Given the description of an element on the screen output the (x, y) to click on. 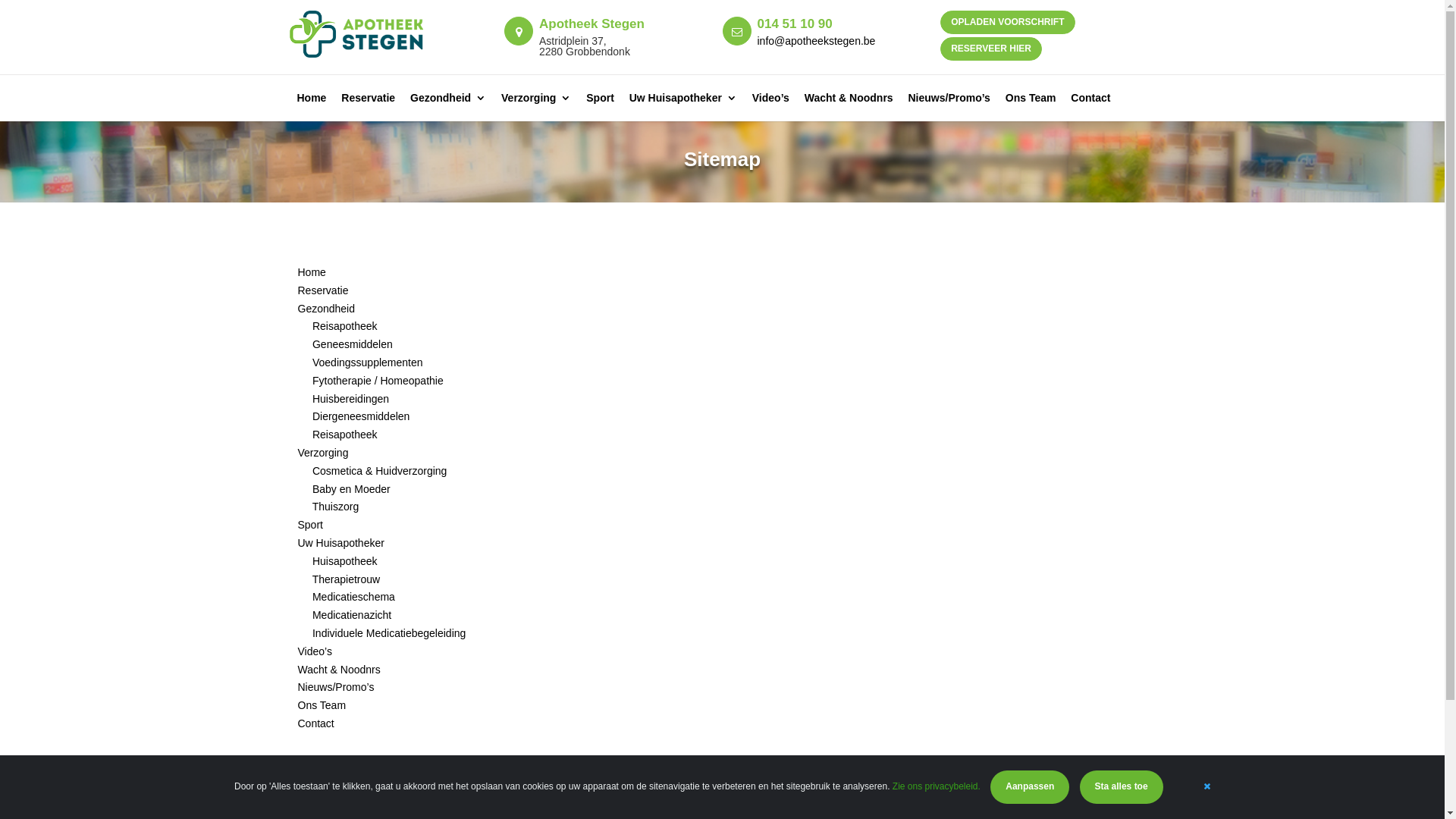
Thuiszorg Element type: text (335, 506)
Reservatie Element type: text (368, 106)
Ons Team Element type: text (321, 705)
Uw Huisapotheker Element type: text (340, 542)
Voedingssupplementen Element type: text (367, 362)
Home Element type: text (311, 106)
RESERVEER HIER Element type: text (990, 48)
Reservatie Element type: text (322, 290)
Gezondheid Element type: text (325, 308)
Aanpassen Element type: text (1029, 786)
Individuele Medicatiebegeleiding Element type: text (388, 633)
Sport Element type: text (600, 106)
Verzorging Element type: text (322, 452)
Wacht & Noodnrs Element type: text (848, 106)
Cosmetica & Huidverzorging Element type: text (379, 470)
Wacht & Noodnrs Element type: text (338, 669)
Diergeneesmiddelen Element type: text (360, 416)
Uw Huisapotheker Element type: text (683, 106)
Huisbereidingen Element type: text (350, 398)
Baby en Moeder Element type: text (351, 489)
info@apotheekstegen.be Element type: text (815, 40)
Medicatienazicht Element type: text (351, 614)
Home Element type: text (311, 272)
Huisapotheek Element type: text (344, 561)
OPLADEN VOORSCHRIFT Element type: text (1007, 22)
Geneesmiddelen Element type: text (352, 344)
Reisapotheek Element type: text (344, 326)
Medicatieschema Element type: text (353, 596)
Contact Element type: text (1090, 106)
Gezondheid Element type: text (448, 106)
Contact Element type: text (315, 723)
Reisapotheek Element type: text (344, 434)
Verzorging Element type: text (536, 106)
Sport Element type: text (309, 524)
Therapietrouw Element type: text (346, 579)
Sta alles toe Element type: text (1121, 786)
Zie ons privacybeleid. Element type: text (936, 786)
Fytotherapie / Homeopathie Element type: text (377, 380)
Ons Team Element type: text (1030, 106)
